Given the description of an element on the screen output the (x, y) to click on. 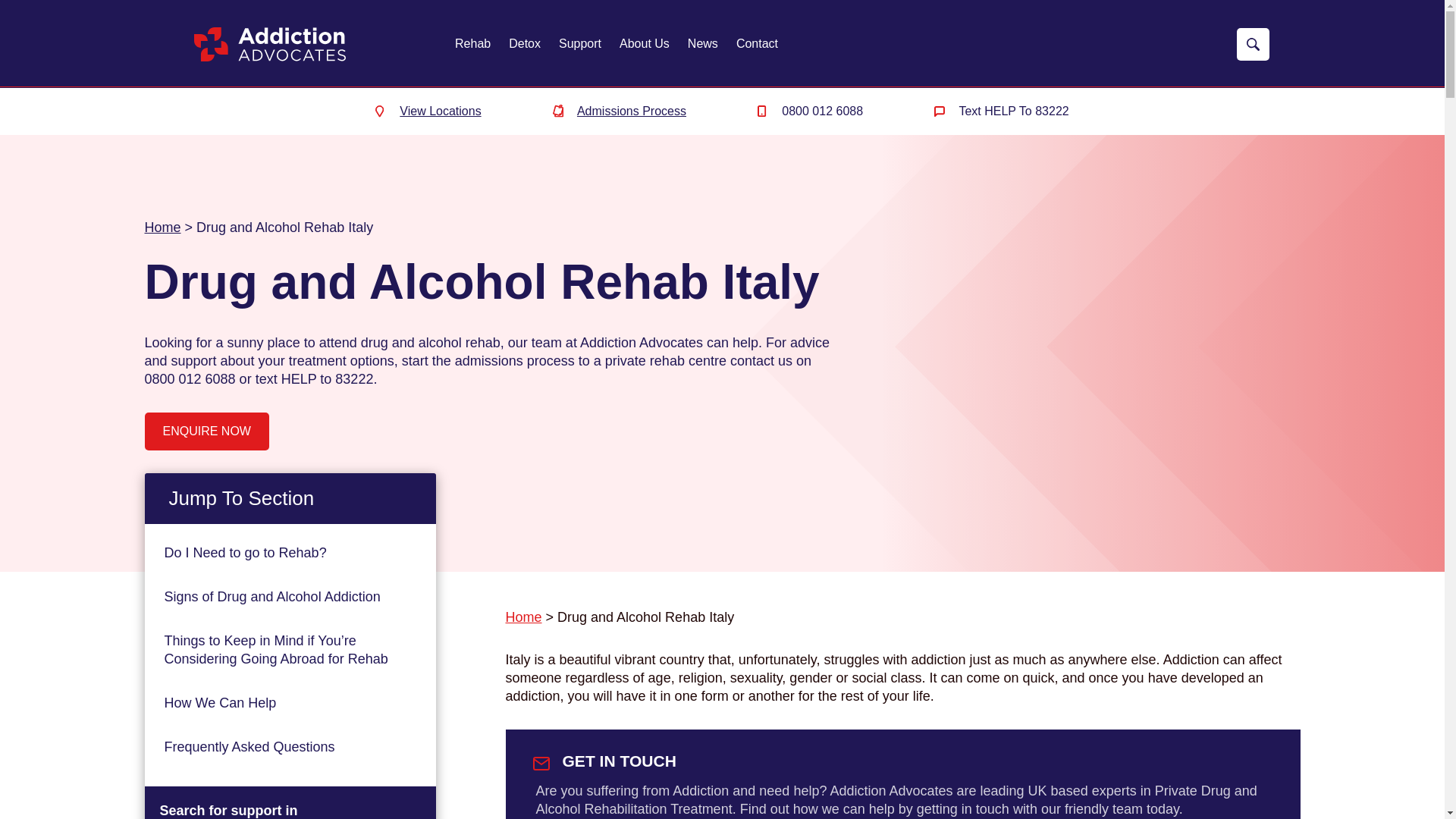
Prescription Drug Rehab (313, 253)
Drug Rehab (313, 187)
Treatment Therapies (313, 387)
Other Addictions (313, 321)
Rehab (472, 44)
Alcohol Rehab (313, 120)
